Given the description of an element on the screen output the (x, y) to click on. 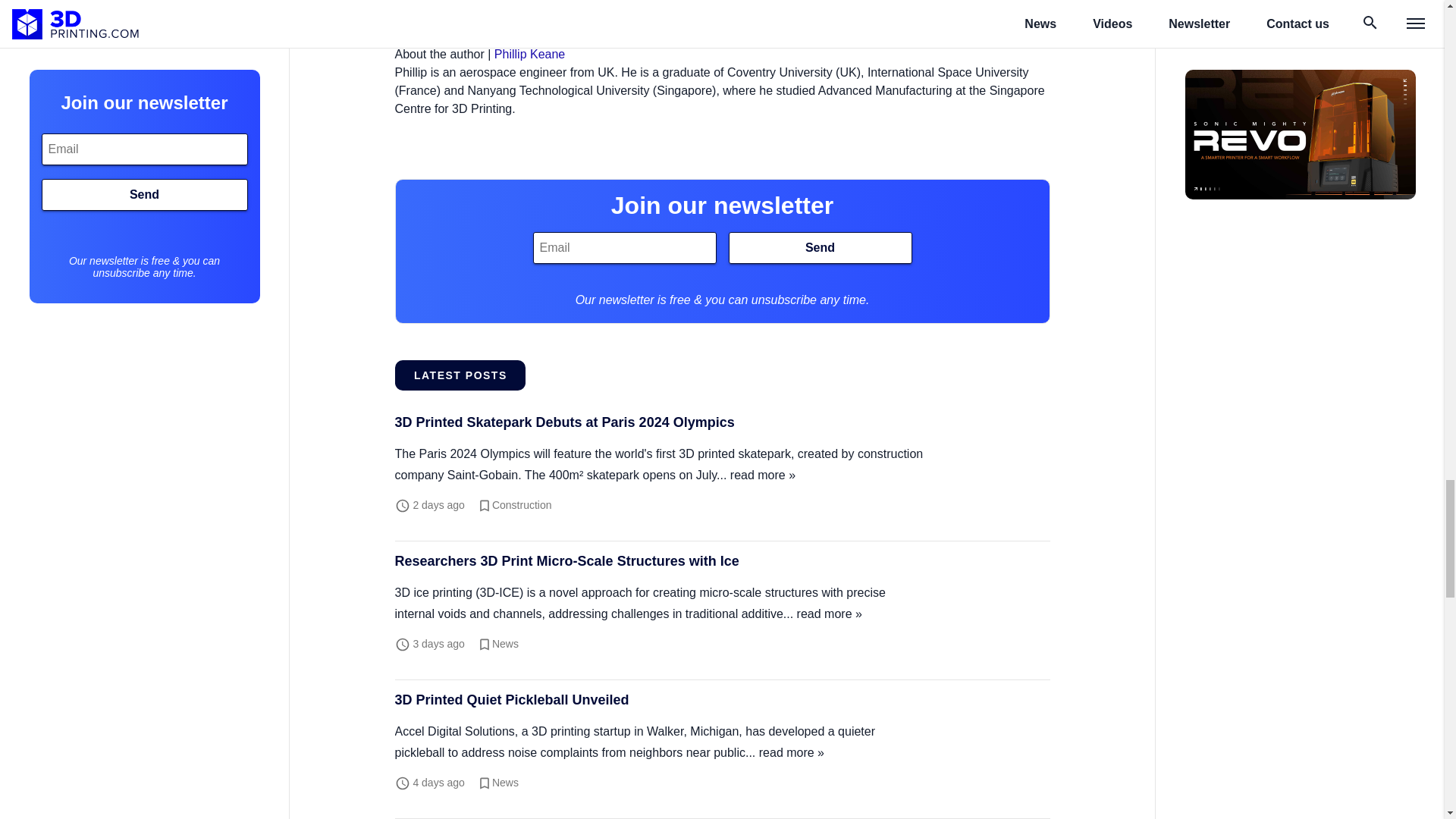
Posts by Phillip Keane (529, 53)
1721383258 (438, 504)
Phillip Keane (529, 53)
1721212624 (438, 782)
Send (819, 247)
Send (819, 247)
1721296845 (438, 644)
